Given the description of an element on the screen output the (x, y) to click on. 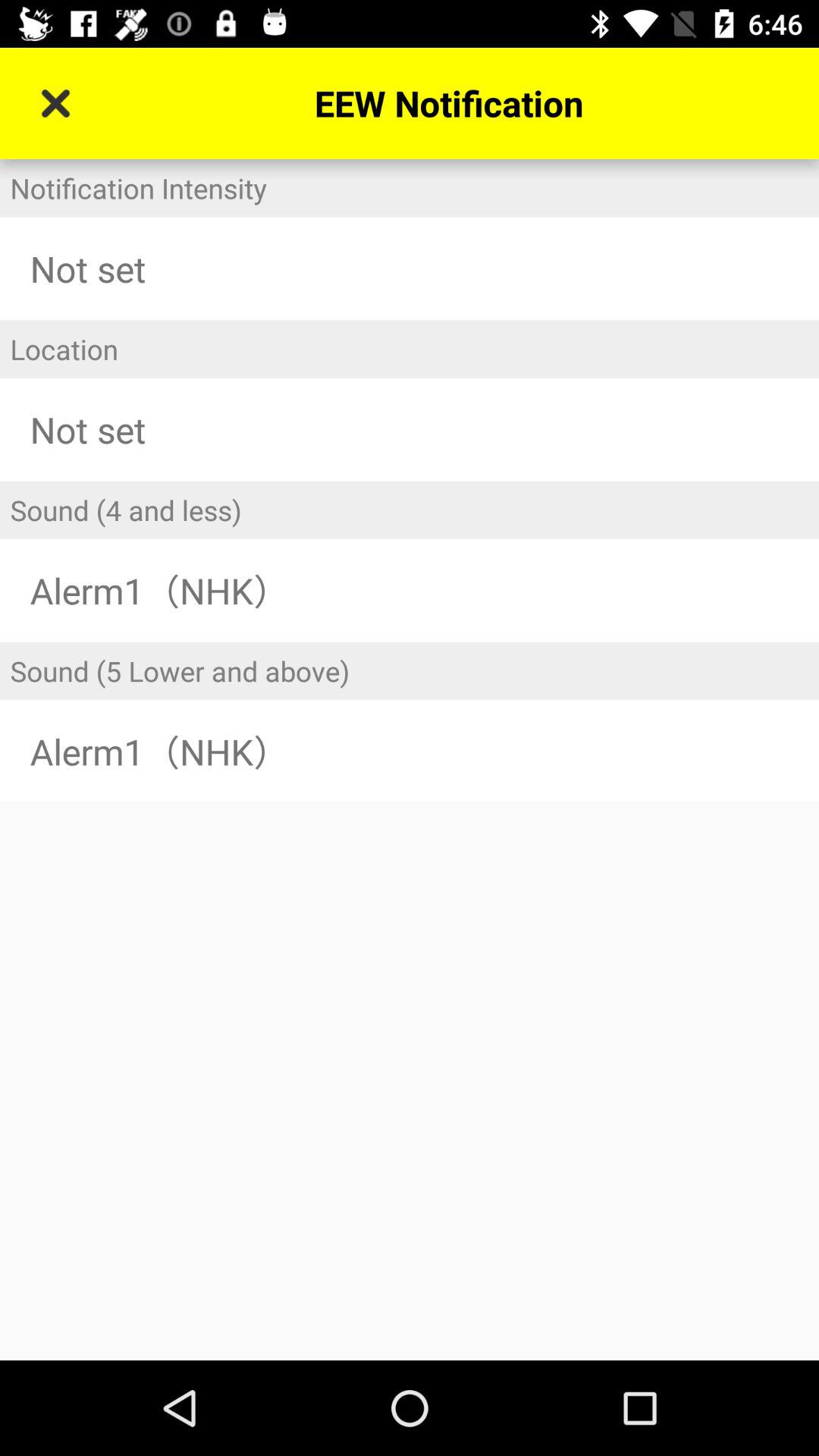
launch icon below not set item (409, 348)
